Given the description of an element on the screen output the (x, y) to click on. 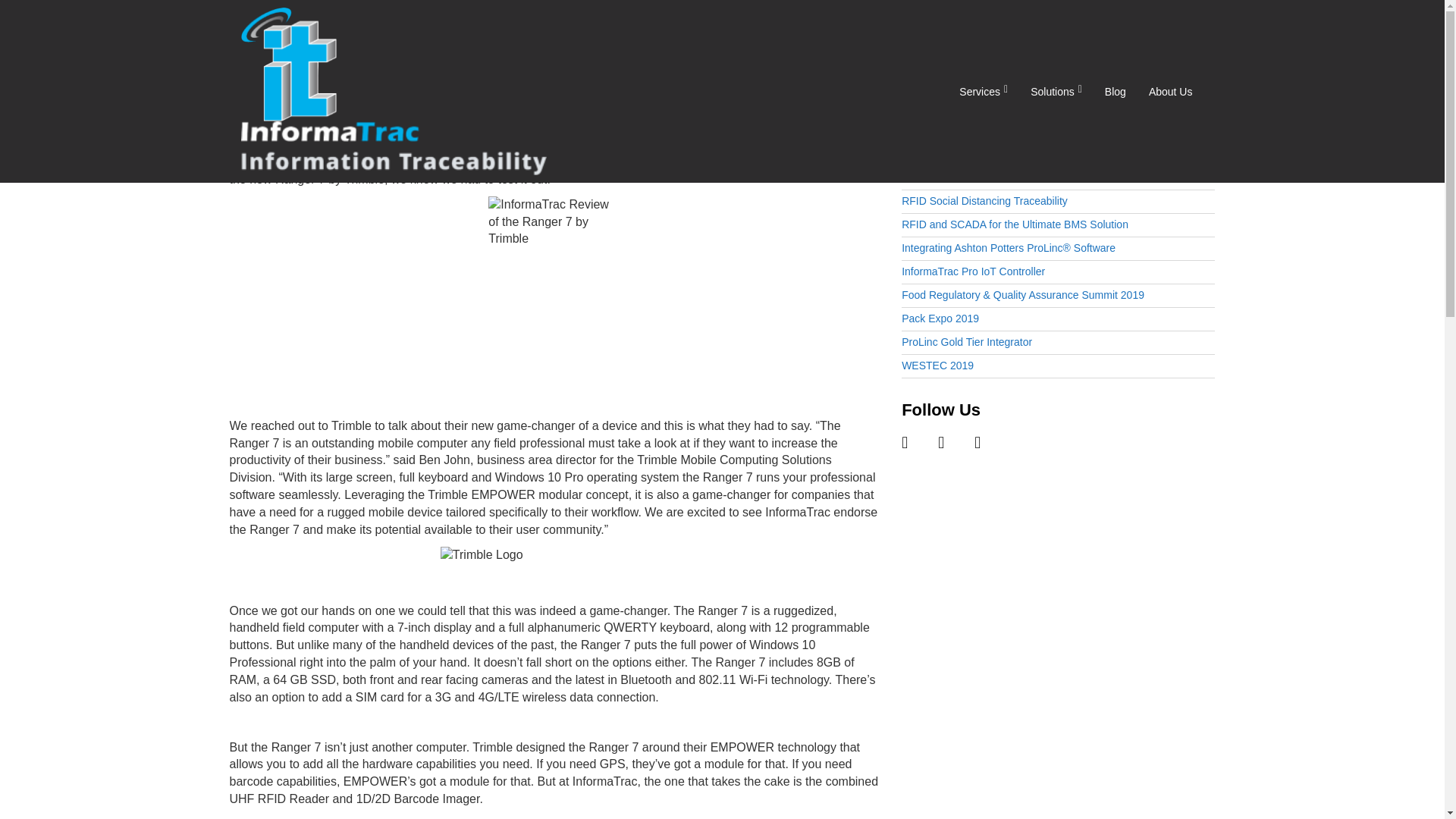
Services (983, 91)
Solutions (1056, 91)
InformaTrac Review of Ranger 7 by Trimble (448, 133)
About Us (1170, 91)
InformaTrac Review of Ranger 7 by Trimble (448, 133)
Blog (1115, 91)
